Given the description of an element on the screen output the (x, y) to click on. 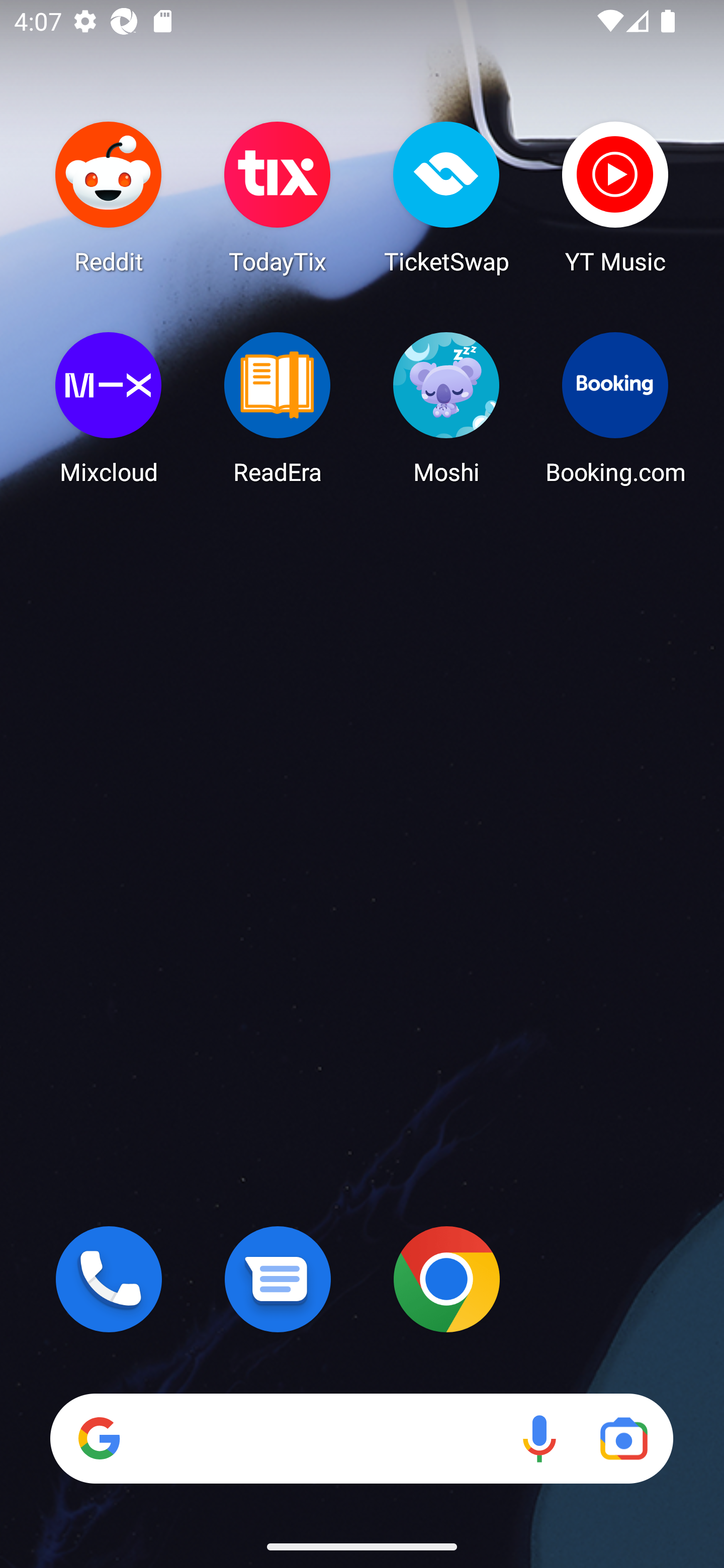
Reddit (108, 196)
TodayTix (277, 196)
TicketSwap (445, 196)
YT Music (615, 196)
Mixcloud (108, 407)
ReadEra (277, 407)
Moshi (445, 407)
Booking.com (615, 407)
Phone (108, 1279)
Messages (277, 1279)
Chrome (446, 1279)
Search Voice search Google Lens (361, 1438)
Voice search (539, 1438)
Google Lens (623, 1438)
